Given the description of an element on the screen output the (x, y) to click on. 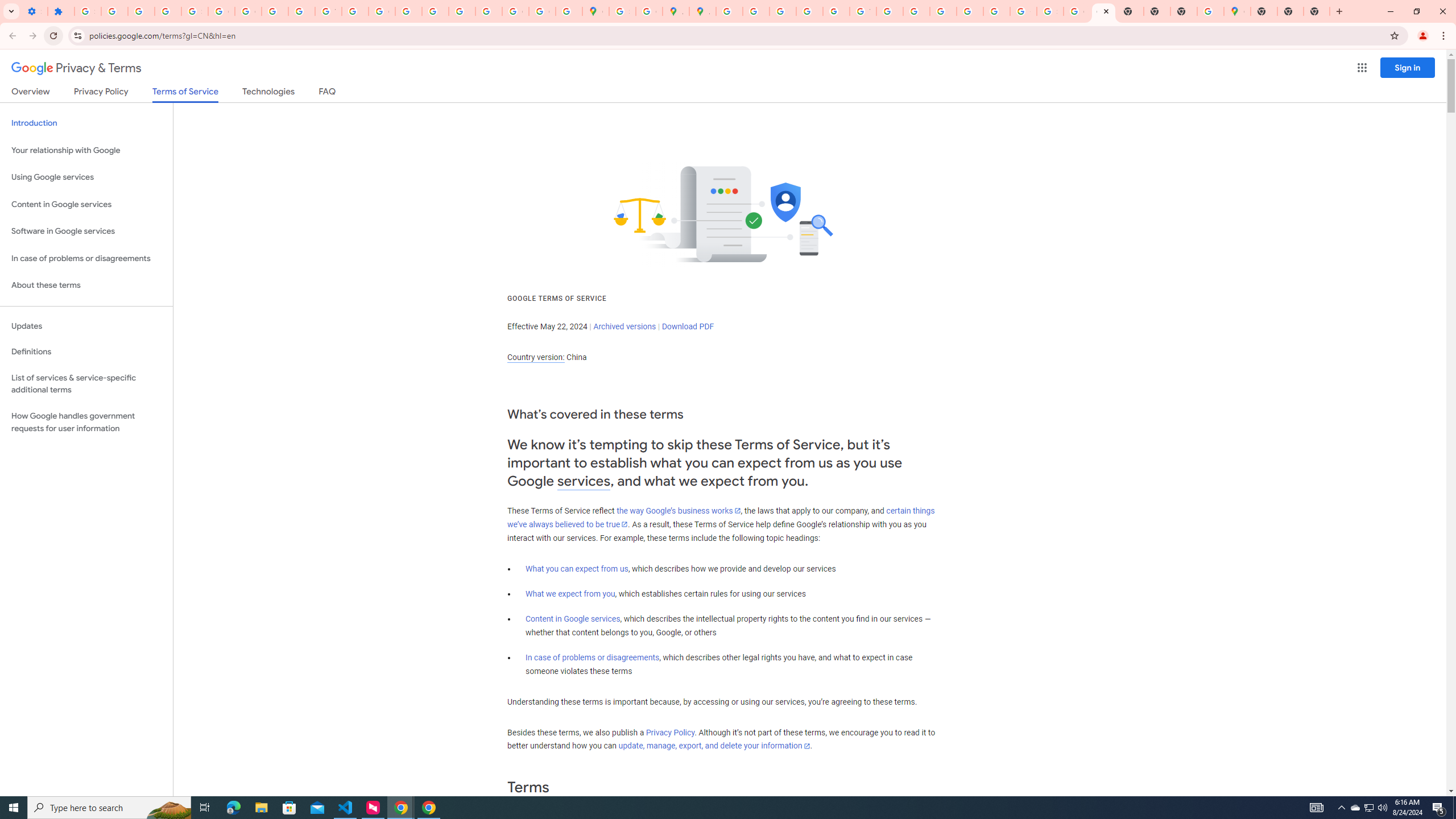
Content in Google services (572, 618)
Delete photos & videos - Computer - Google Photos Help (114, 11)
YouTube (328, 11)
YouTube (862, 11)
